Given the description of an element on the screen output the (x, y) to click on. 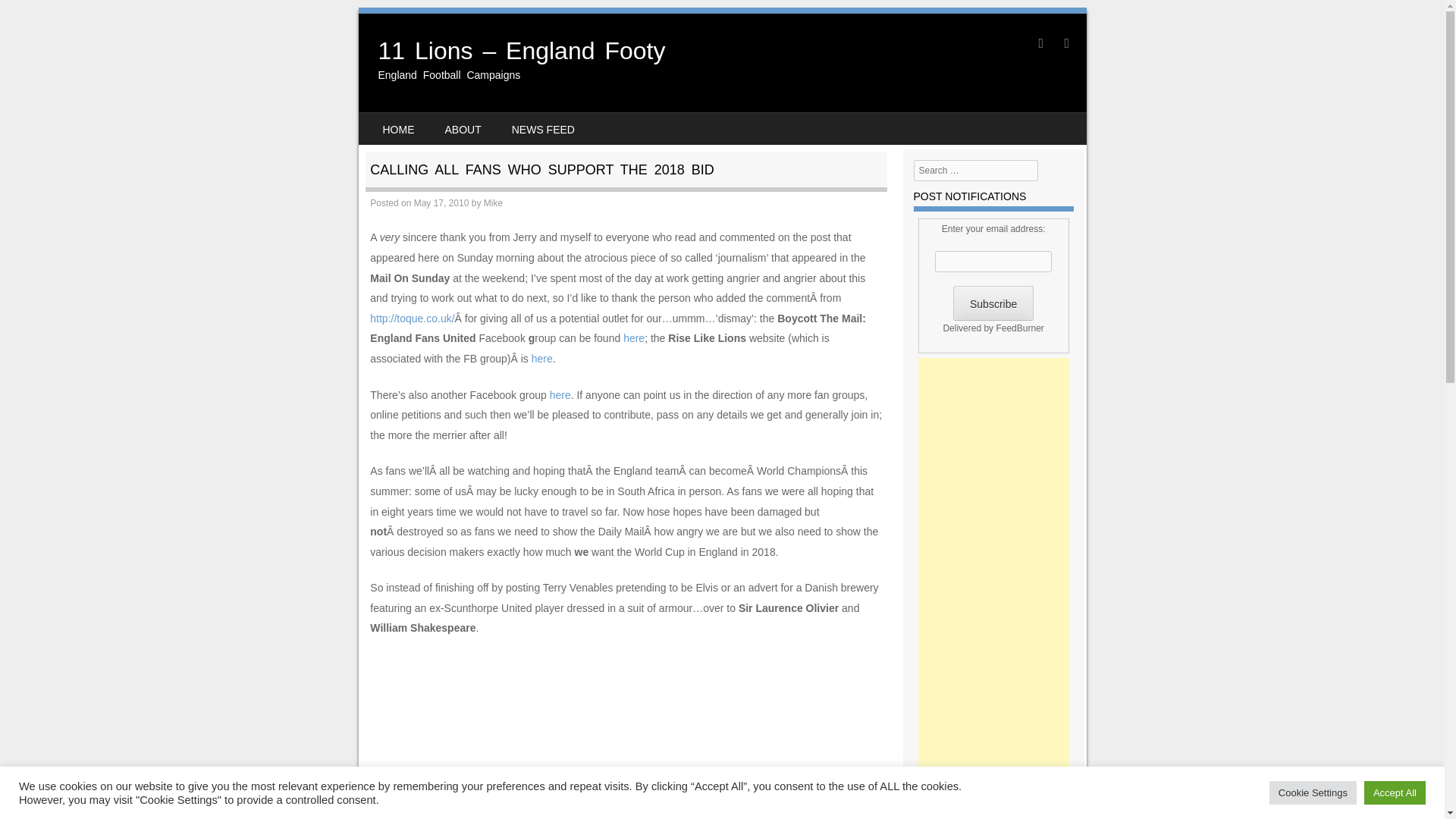
here (542, 358)
FeedBurner (1019, 327)
May 17, 2010 (440, 203)
Cookie Settings (1312, 792)
here (634, 337)
ABOUT (462, 128)
here (560, 395)
Skip to content (405, 122)
Accept All (1394, 792)
View all posts by Mike (492, 203)
